Given the description of an element on the screen output the (x, y) to click on. 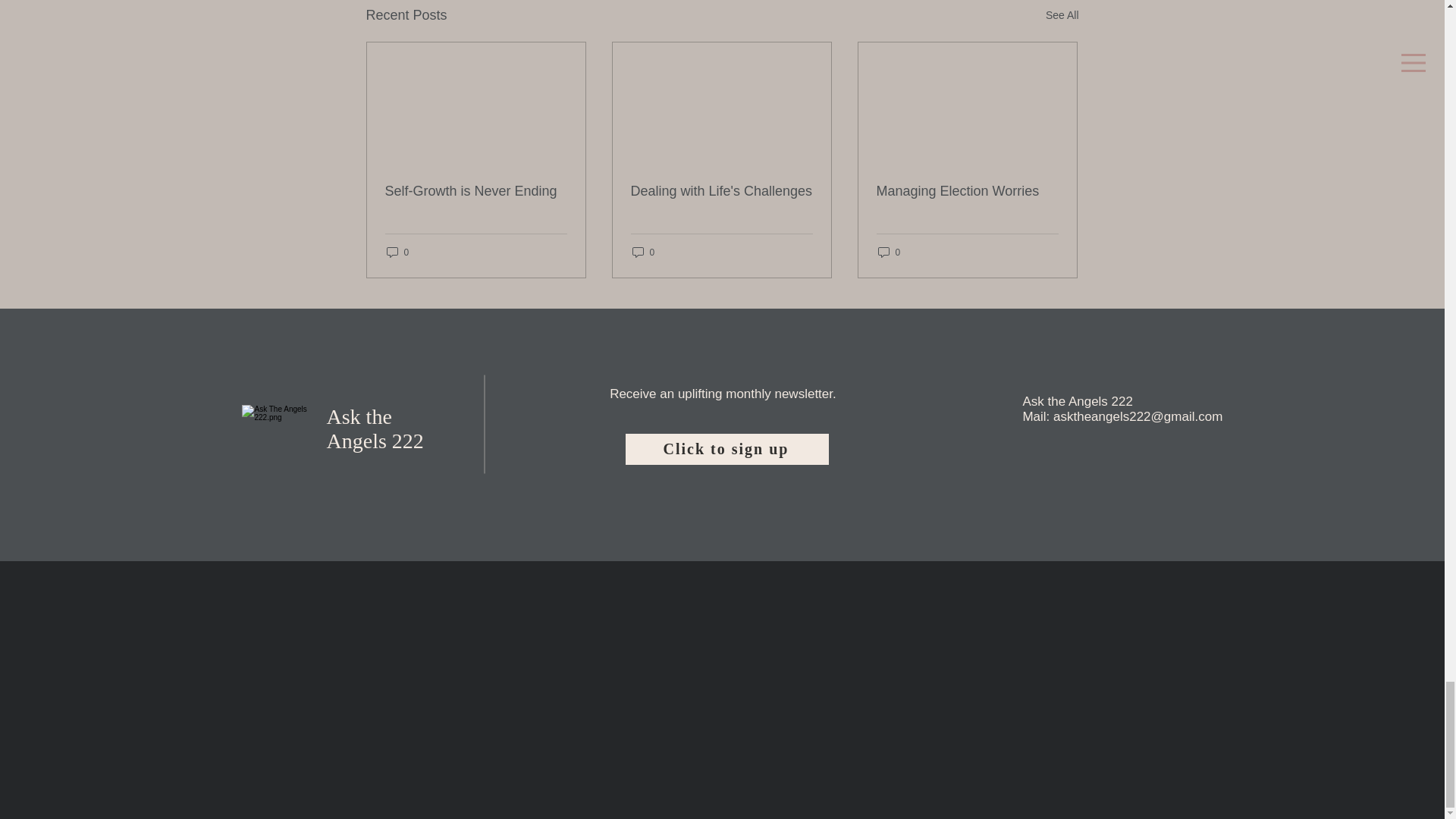
Click to sign up (727, 449)
Self-Growth is Never Ending (476, 191)
5.png (277, 440)
0 (889, 251)
See All (1061, 15)
0 (397, 251)
Managing Election Worries (967, 191)
0 (643, 251)
Dealing with Life's Challenges (721, 191)
